Given the description of an element on the screen output the (x, y) to click on. 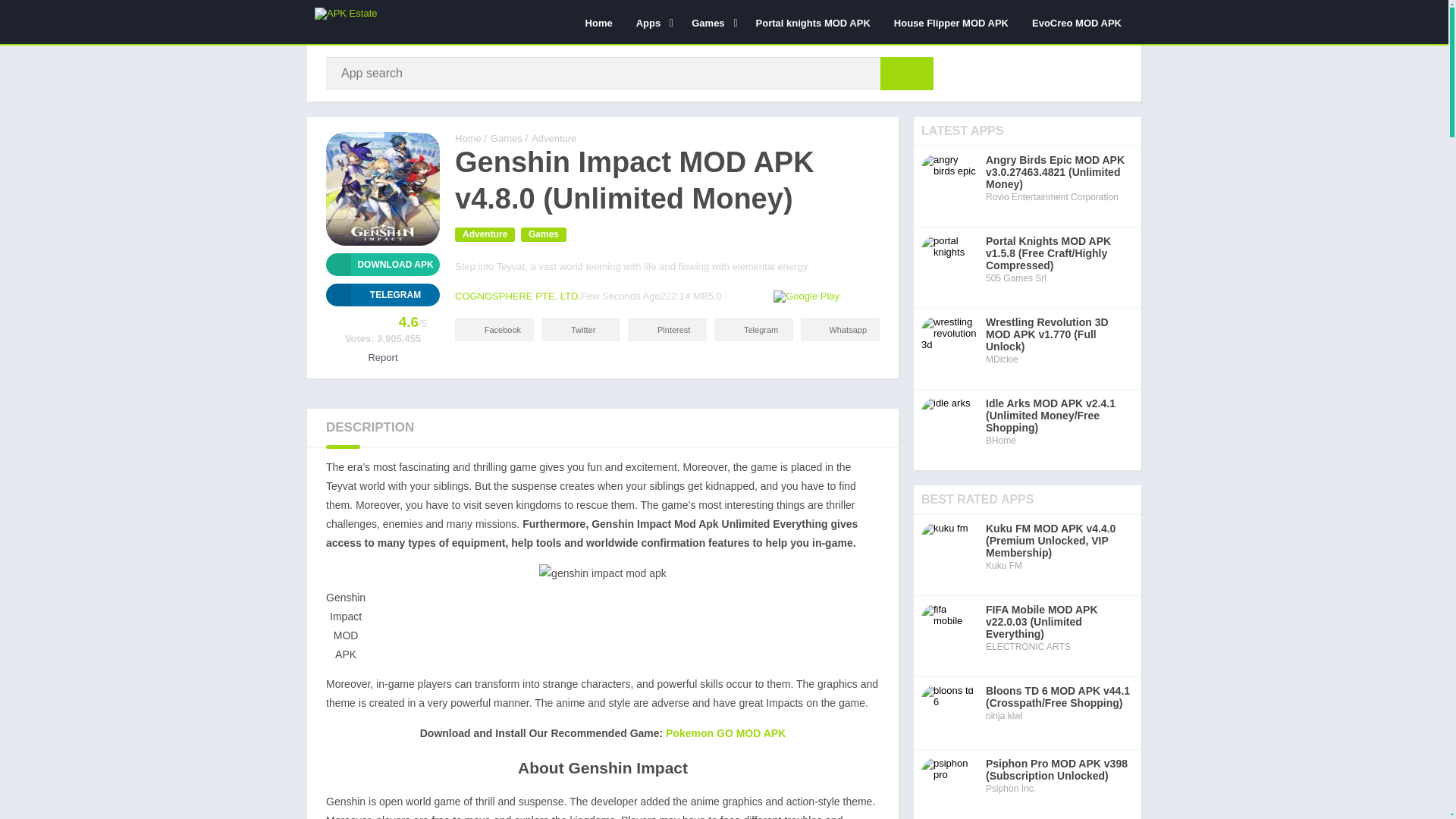
Telegram (382, 294)
EvoCreo MOD APK (1076, 22)
Apps (651, 22)
Games (710, 22)
APK Estate (467, 138)
House Flipper MOD APK (951, 22)
Download APK (382, 264)
Home (598, 22)
Portal knights MOD APK (813, 22)
App search (906, 73)
